Given the description of an element on the screen output the (x, y) to click on. 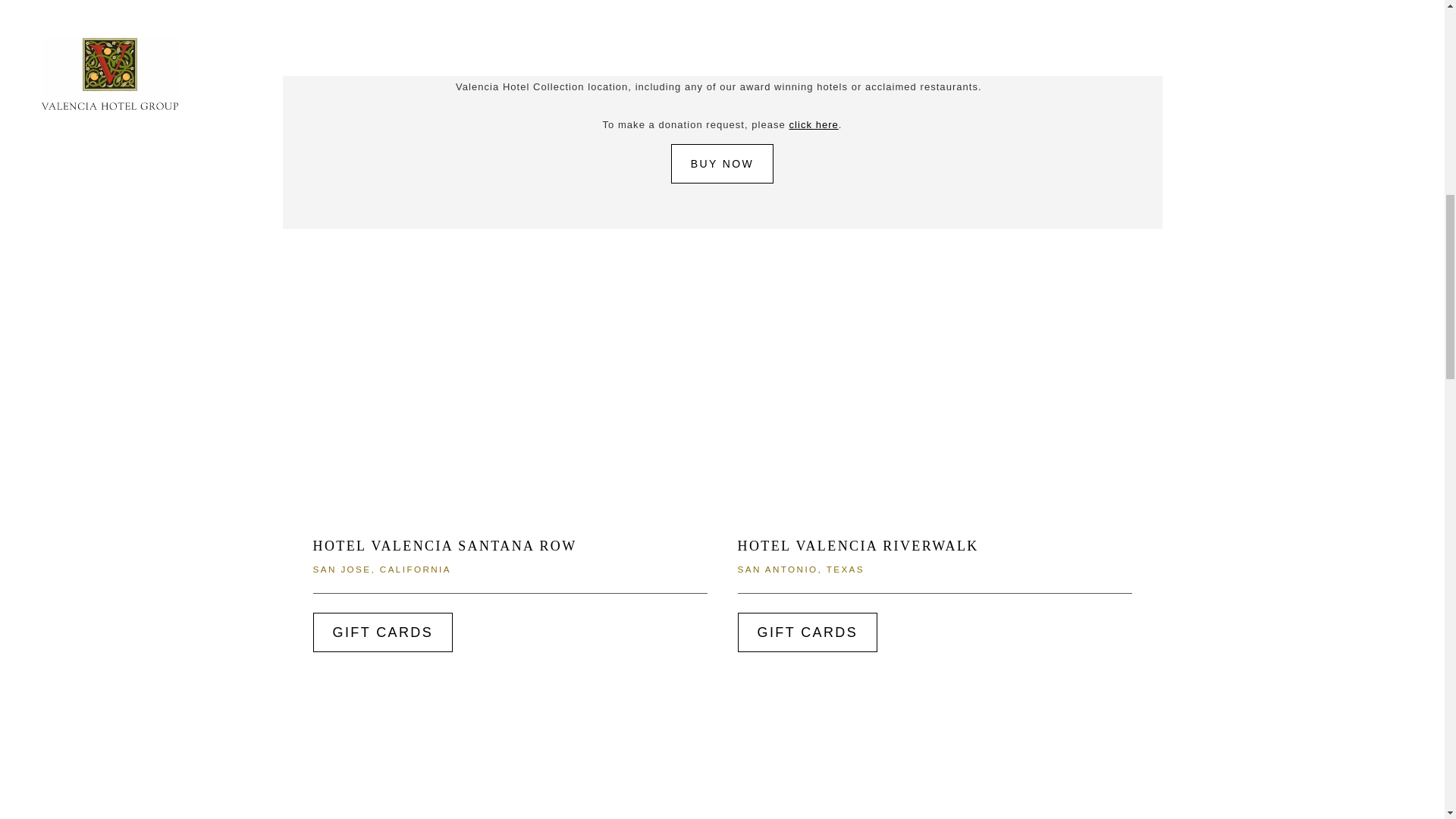
Link to Larger Item Photo (509, 775)
GIFT CARDS (806, 631)
click here (813, 124)
Link to Larger Item Photo (933, 406)
GIFT CARDS (382, 631)
Link to Larger Item Photo (509, 406)
BUY NOW (722, 163)
Link to Larger Item Photo (933, 775)
